Given the description of an element on the screen output the (x, y) to click on. 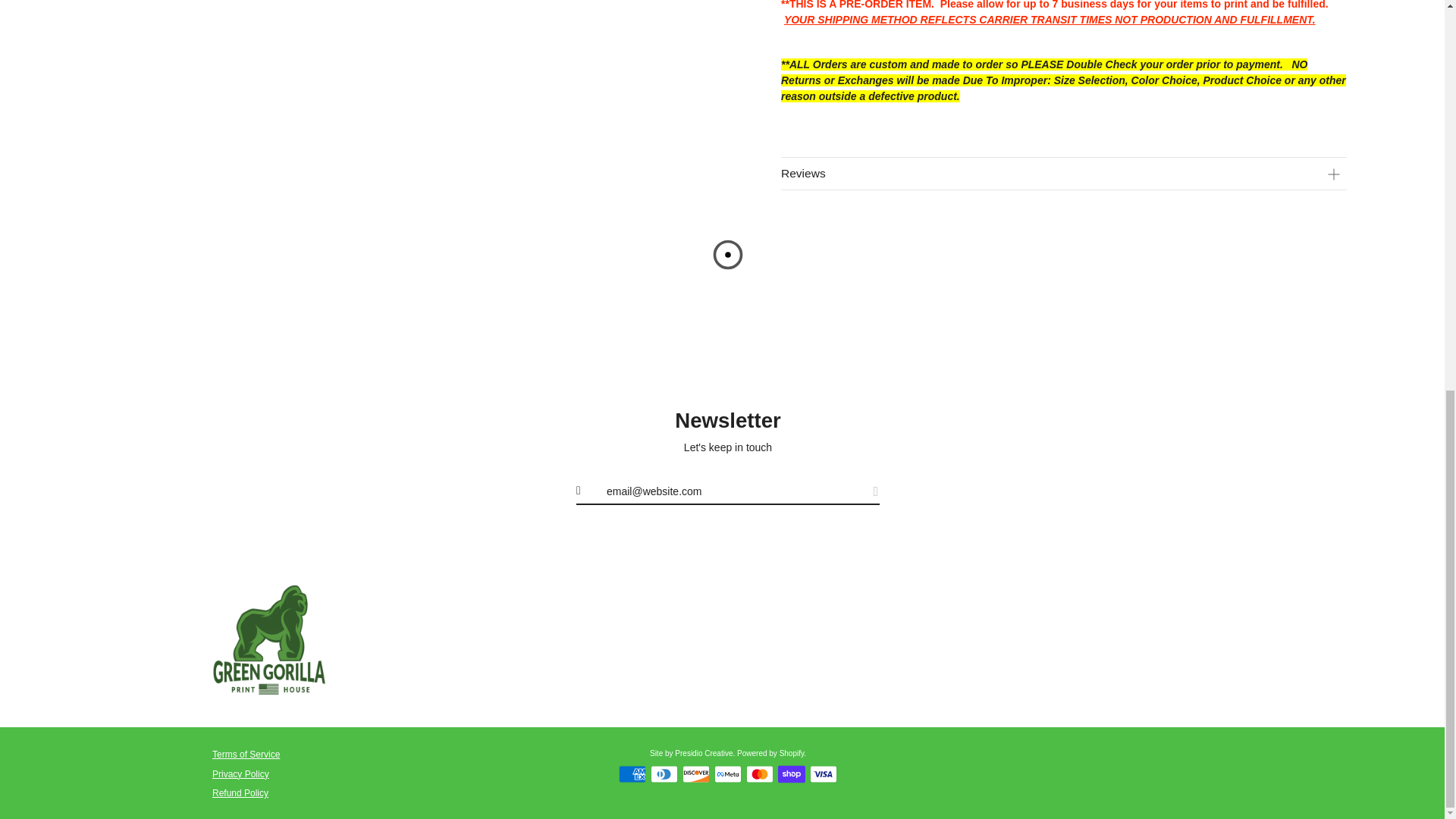
Mastercard (759, 773)
Meta Pay (727, 773)
Discover (696, 773)
Shop Pay (791, 773)
Terms of Service (245, 754)
Refund Policy (239, 792)
Privacy Policy (240, 774)
Visa (823, 773)
American Express (632, 773)
Diners Club (664, 773)
